Given the description of an element on the screen output the (x, y) to click on. 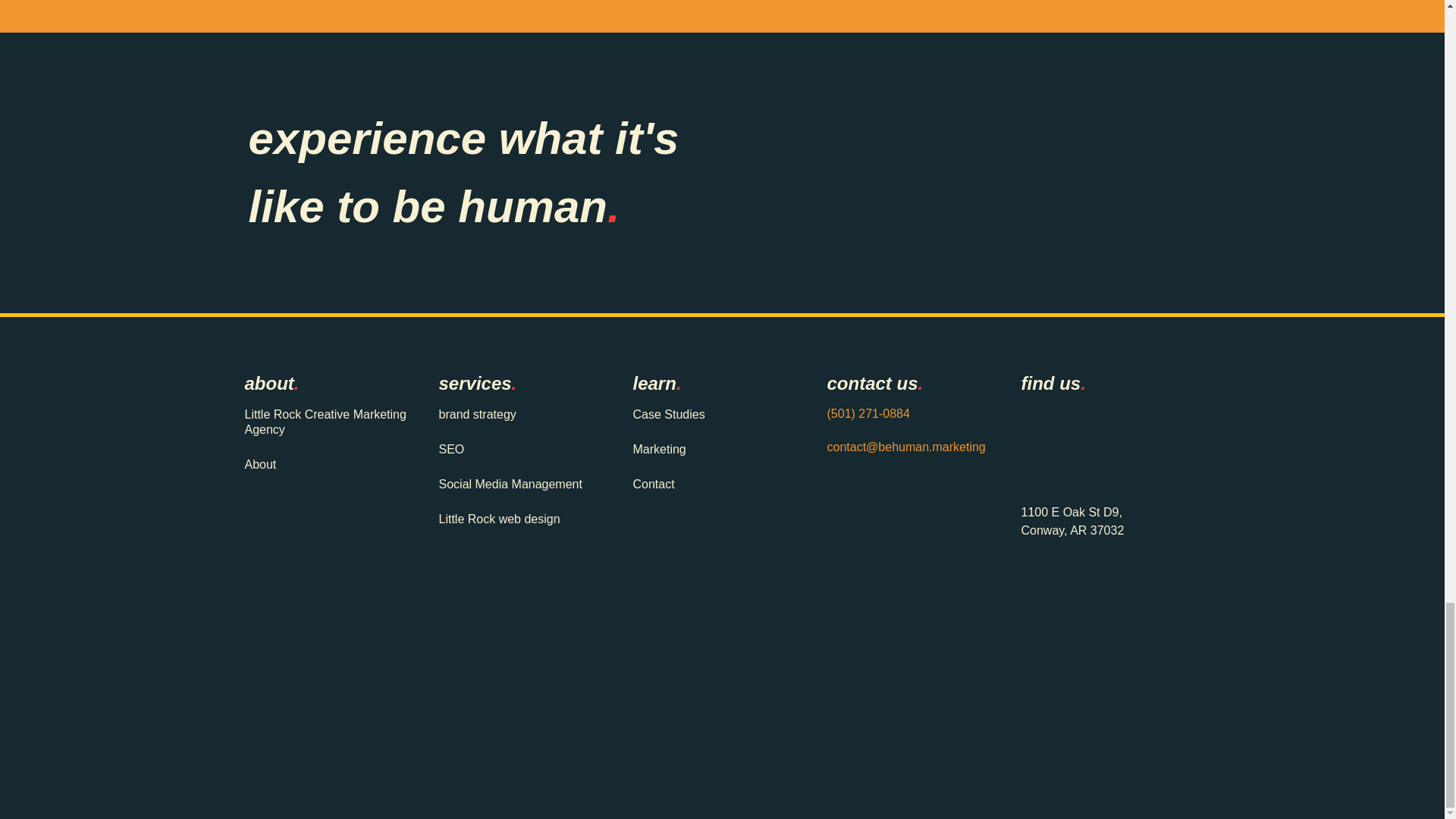
Little Rock web design (520, 519)
Contact (713, 484)
Little Rock Creative Marketing Agency (325, 422)
Social Media Management (520, 484)
Marketing (713, 449)
1100 E Oak St D9, Conway, AR 72032 (1109, 442)
Case Studies (713, 414)
brand strategy (520, 414)
About (325, 464)
SEO (520, 449)
